Given the description of an element on the screen output the (x, y) to click on. 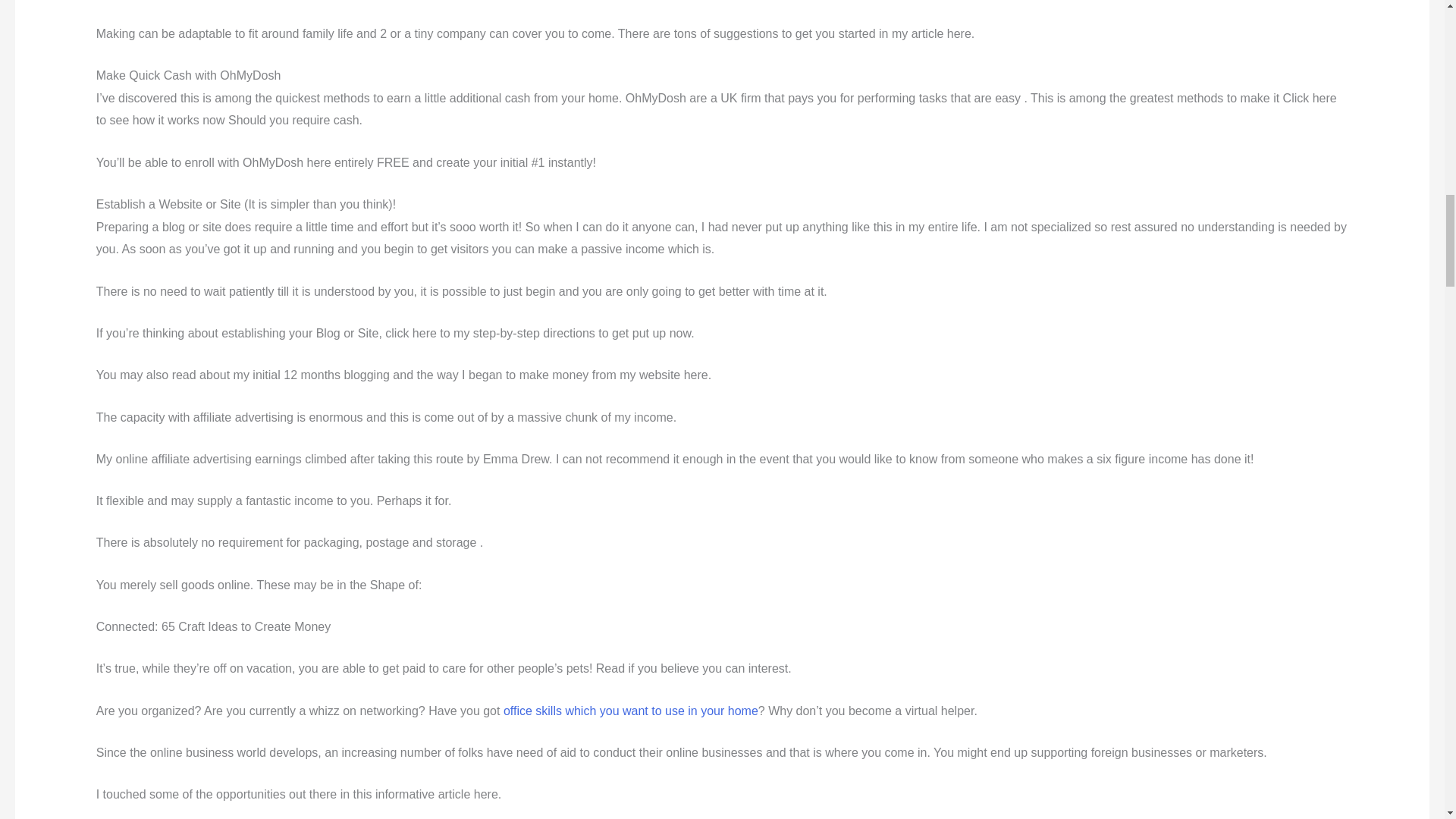
office skills which you want to use in your home (630, 710)
